Given the description of an element on the screen output the (x, y) to click on. 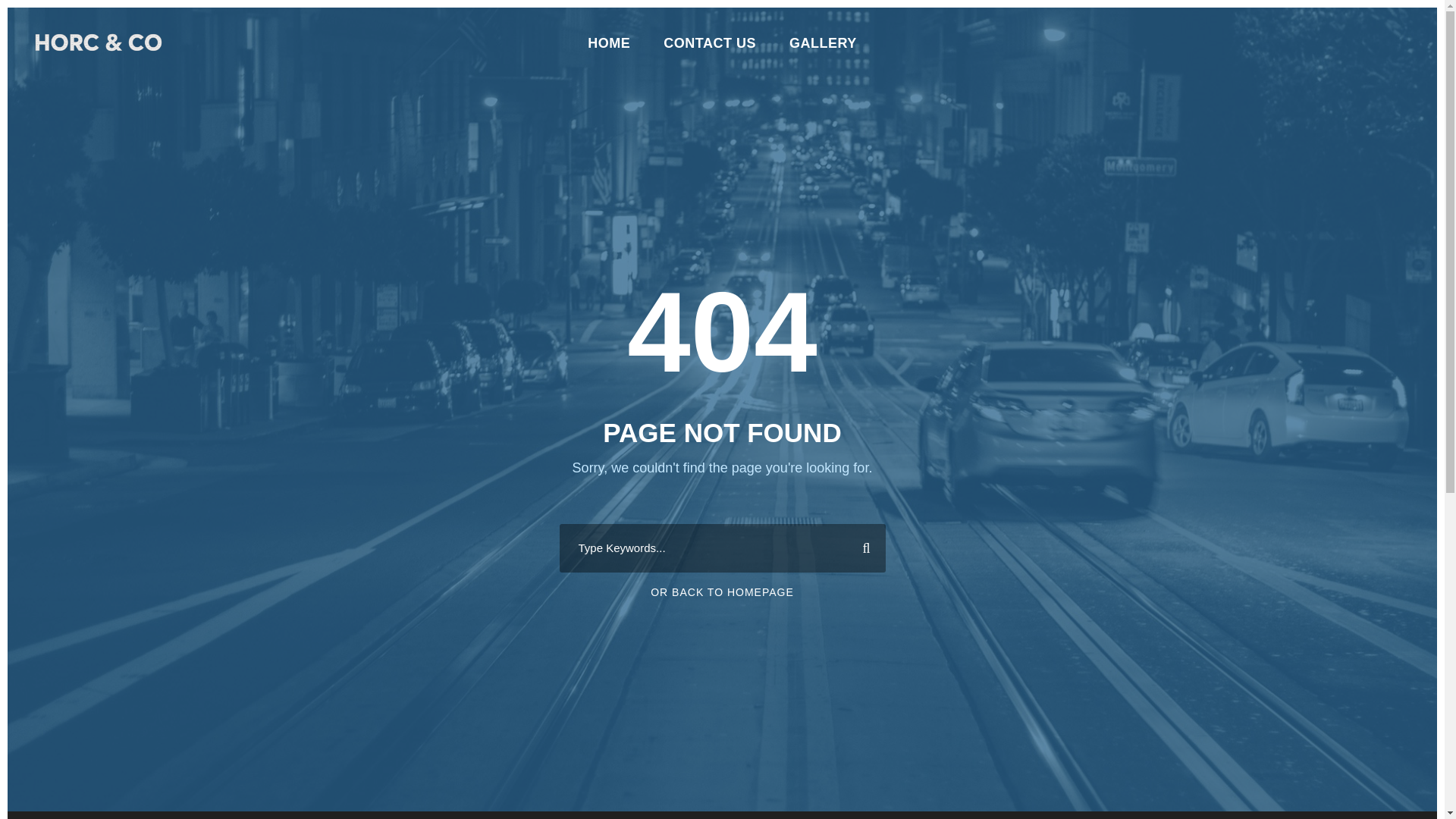
GALLERY (823, 50)
CONTACT US (709, 50)
OR BACK TO HOMEPAGE (721, 592)
HOME (609, 50)
LOGO-HORC-CO (98, 42)
Search (860, 548)
